Given the description of an element on the screen output the (x, y) to click on. 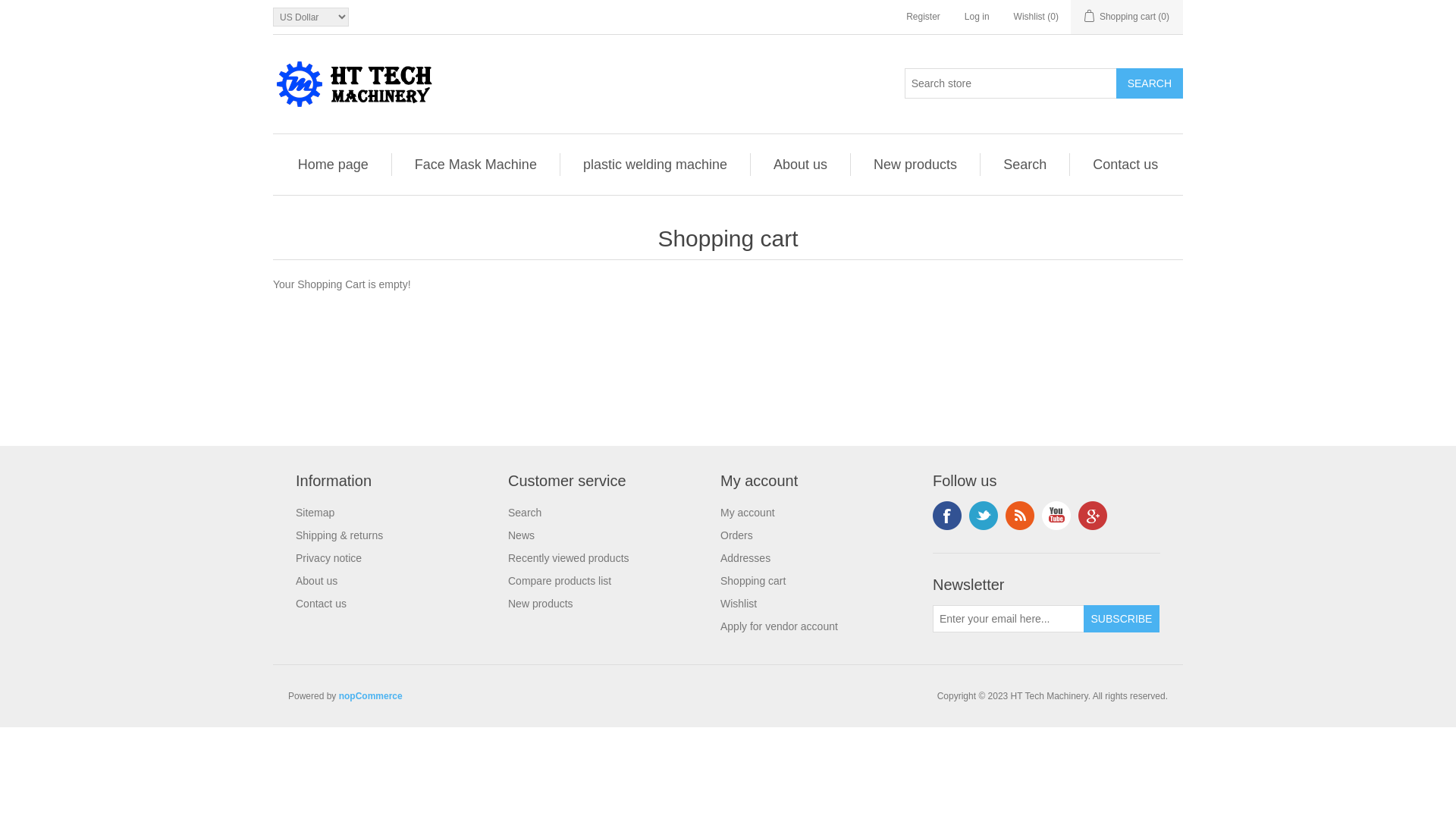
plastic welding machine Element type: text (654, 164)
Twitter Element type: text (983, 515)
RSS Element type: text (1019, 515)
My account Element type: text (747, 512)
Log in Element type: text (976, 17)
Sitemap Element type: text (314, 512)
YouTube Element type: text (1055, 515)
Search Element type: text (1149, 83)
Register Element type: text (923, 17)
Search Element type: text (524, 512)
About us Element type: text (799, 164)
New products Element type: text (915, 164)
Facebook Element type: text (946, 515)
Shipping & returns Element type: text (338, 535)
Compare products list Element type: text (559, 580)
Recently viewed products Element type: text (568, 558)
About us Element type: text (316, 580)
Home page Element type: text (333, 164)
Addresses Element type: text (745, 558)
Shopping cart (0) Element type: text (1126, 17)
Wishlist Element type: text (738, 603)
Face Mask Machine Element type: text (475, 164)
Orders Element type: text (736, 535)
nopCommerce Element type: text (370, 695)
New products Element type: text (540, 603)
Contact us Element type: text (1125, 164)
Shopping cart Element type: text (752, 580)
Privacy notice Element type: text (328, 558)
News Element type: text (521, 535)
Contact us Element type: text (320, 603)
Wishlist (0) Element type: text (1035, 17)
Search Element type: text (1024, 164)
Google+ Element type: text (1092, 515)
Apply for vendor account Element type: text (778, 626)
